Given the description of an element on the screen output the (x, y) to click on. 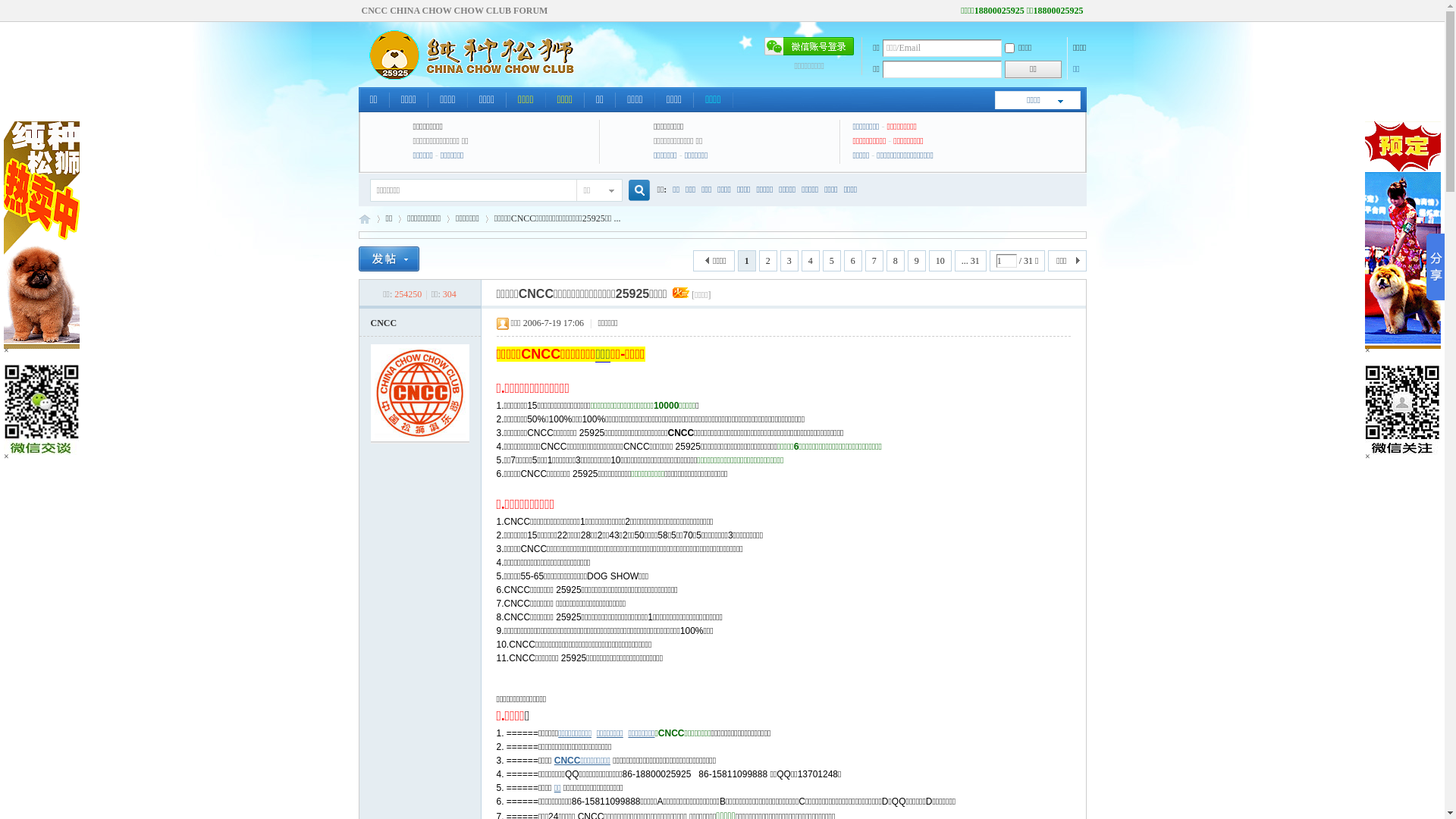
4 Element type: text (810, 260)
true Element type: text (632, 190)
6 Element type: text (853, 260)
CNCC Element type: text (383, 322)
5 Element type: text (831, 260)
9 Element type: text (916, 260)
3 Element type: text (789, 260)
8 Element type: text (895, 260)
10 Element type: text (939, 260)
CNCC CHINA CHOW CHOW CLUB FORUM Element type: text (453, 10)
7 Element type: text (874, 260)
2 Element type: text (768, 260)
... 31 Element type: text (970, 260)
